Given the description of an element on the screen output the (x, y) to click on. 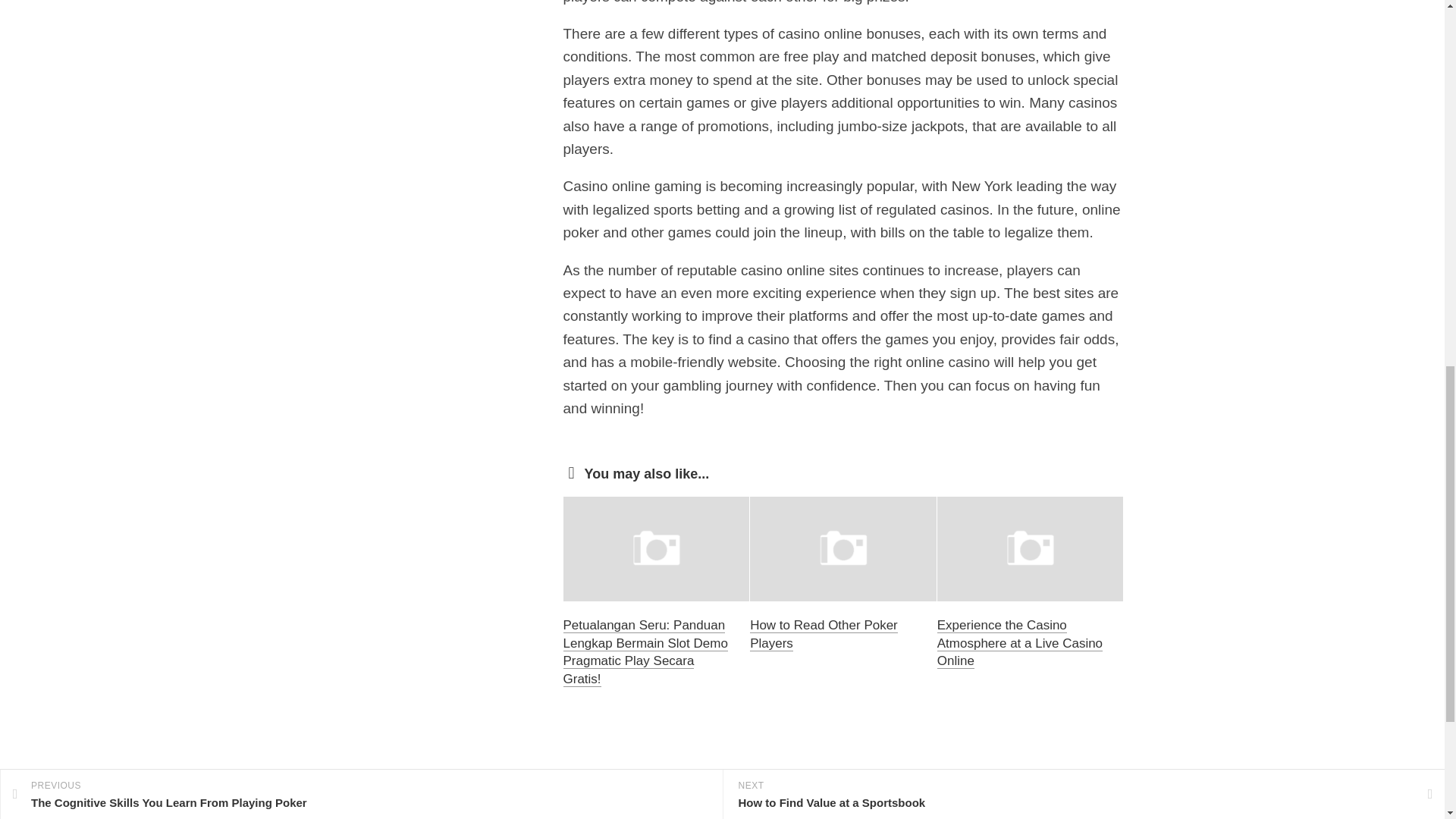
How to Read Other Poker Players (823, 634)
Experience the Casino Atmosphere at a Live Casino Online (1019, 643)
